Given the description of an element on the screen output the (x, y) to click on. 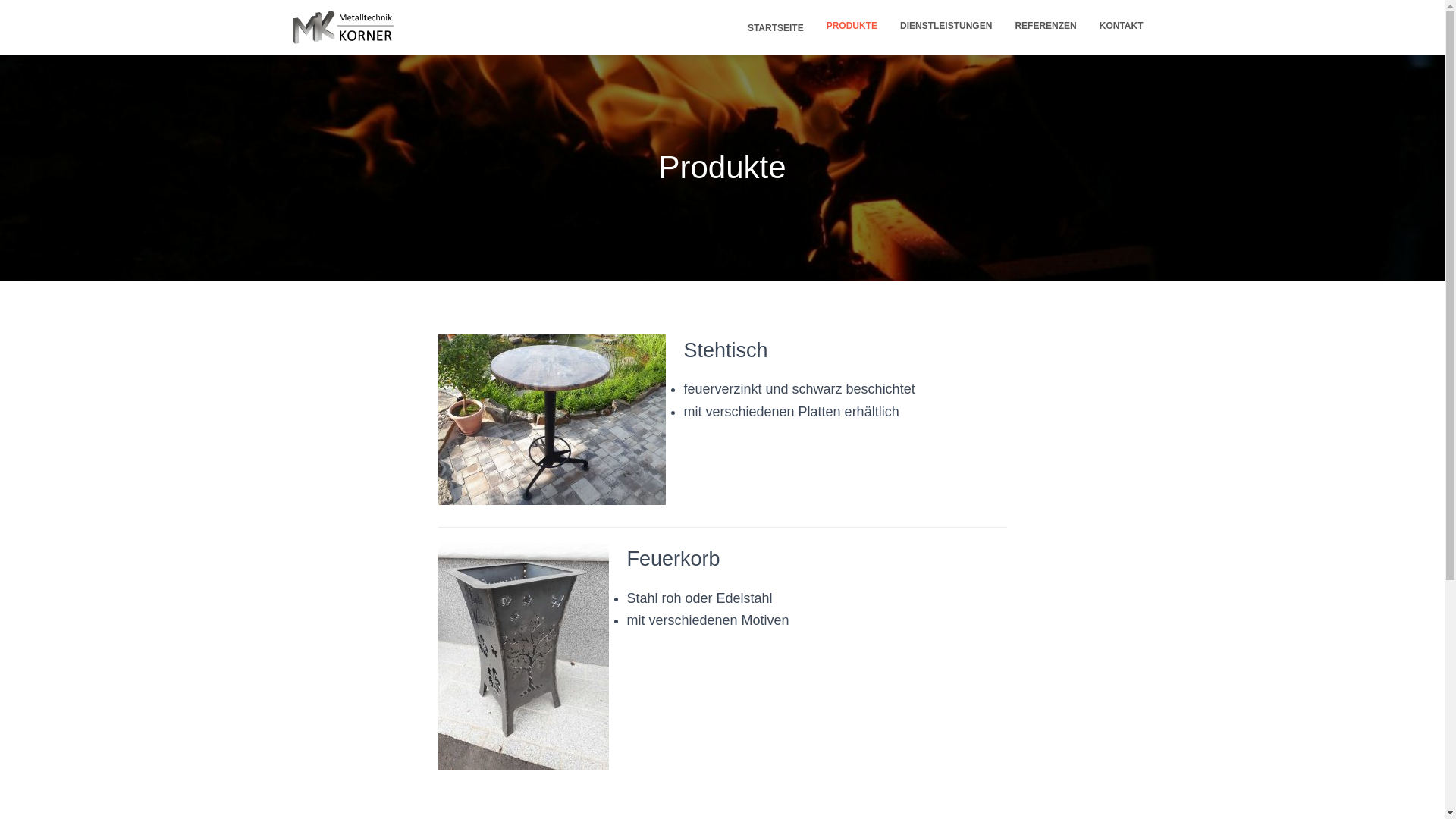
KONTAKT Element type: text (1121, 25)
REFERENZEN Element type: text (1045, 25)
 STARTSEITE Element type: text (773, 27)
PRODUKTE Element type: text (851, 25)
DIENSTLEISTUNGEN Element type: text (945, 25)
